Given the description of an element on the screen output the (x, y) to click on. 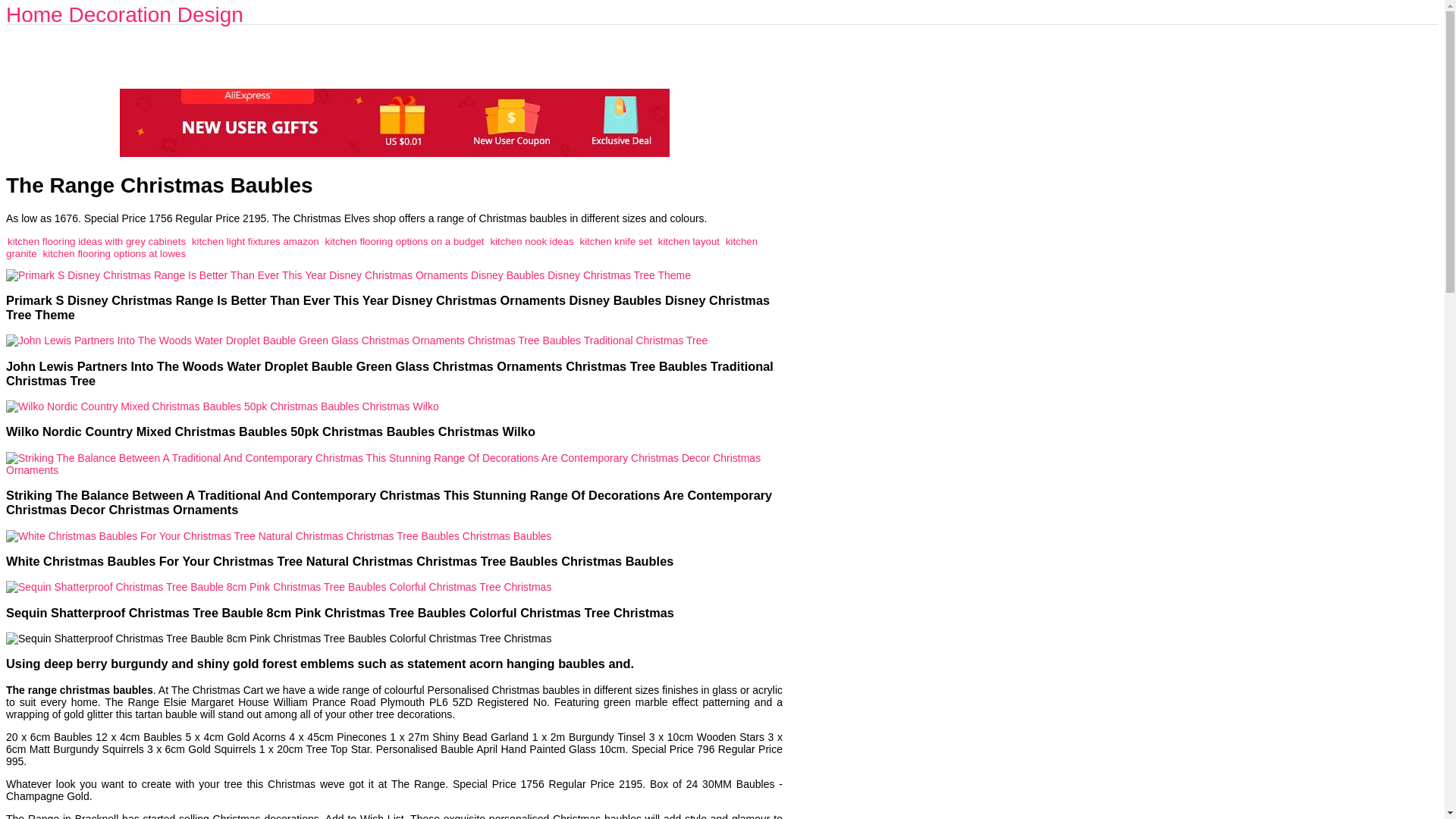
kitchen flooring ideas with grey cabinets (96, 240)
kitchen granite (381, 246)
kitchen layout (688, 240)
kitchen flooring options at lowes (114, 252)
kitchen knife set (614, 240)
kitchen nook ideas (531, 240)
kitchen light fixtures amazon (255, 240)
kitchen flooring options on a budget (404, 240)
Home Decoration Design (124, 14)
Home Decoration Design (124, 14)
